Given the description of an element on the screen output the (x, y) to click on. 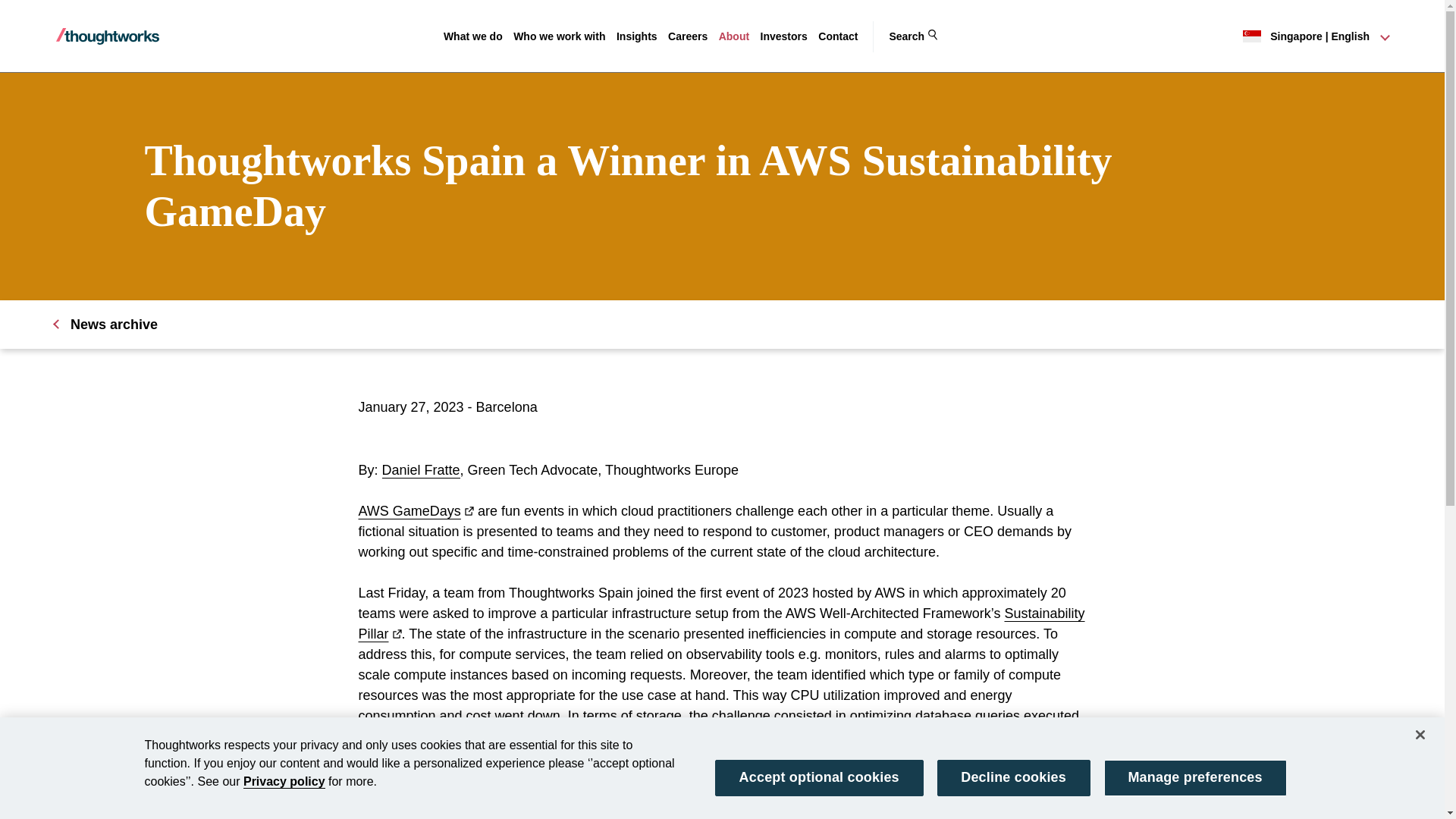
Who we work with (559, 36)
Insights (636, 36)
What we do (473, 36)
What we do (473, 36)
Insights (636, 36)
Careers (687, 36)
Who we work with (559, 36)
Thoughtworks (107, 36)
Thoughtworks (107, 36)
